Given the description of an element on the screen output the (x, y) to click on. 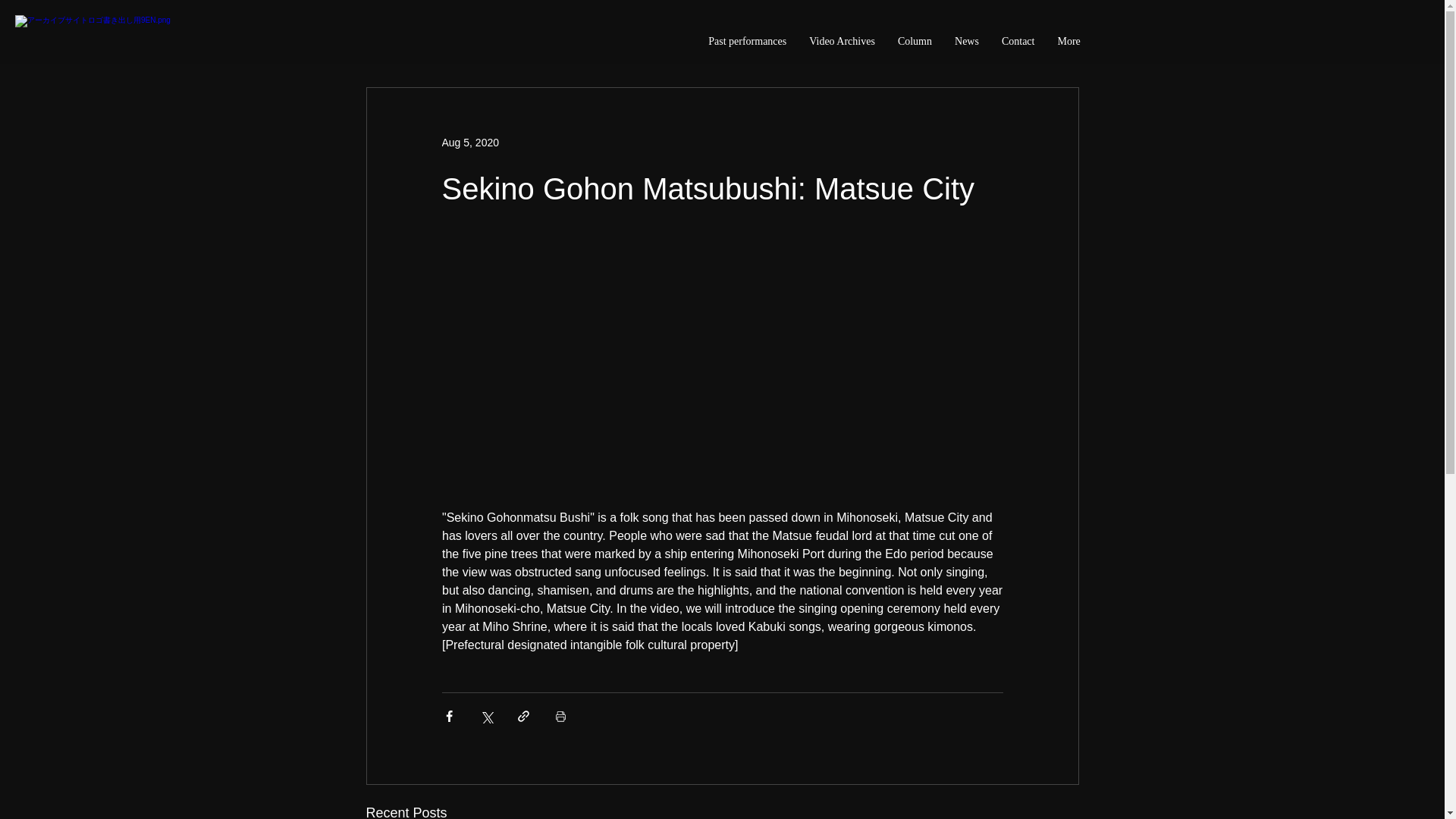
Past performances (747, 47)
Column (914, 47)
Video Archives (841, 47)
News (966, 47)
Shimane Traditional Performing Arts Archives (229, 35)
Aug 5, 2020 (470, 142)
Contact (1018, 47)
